Given the description of an element on the screen output the (x, y) to click on. 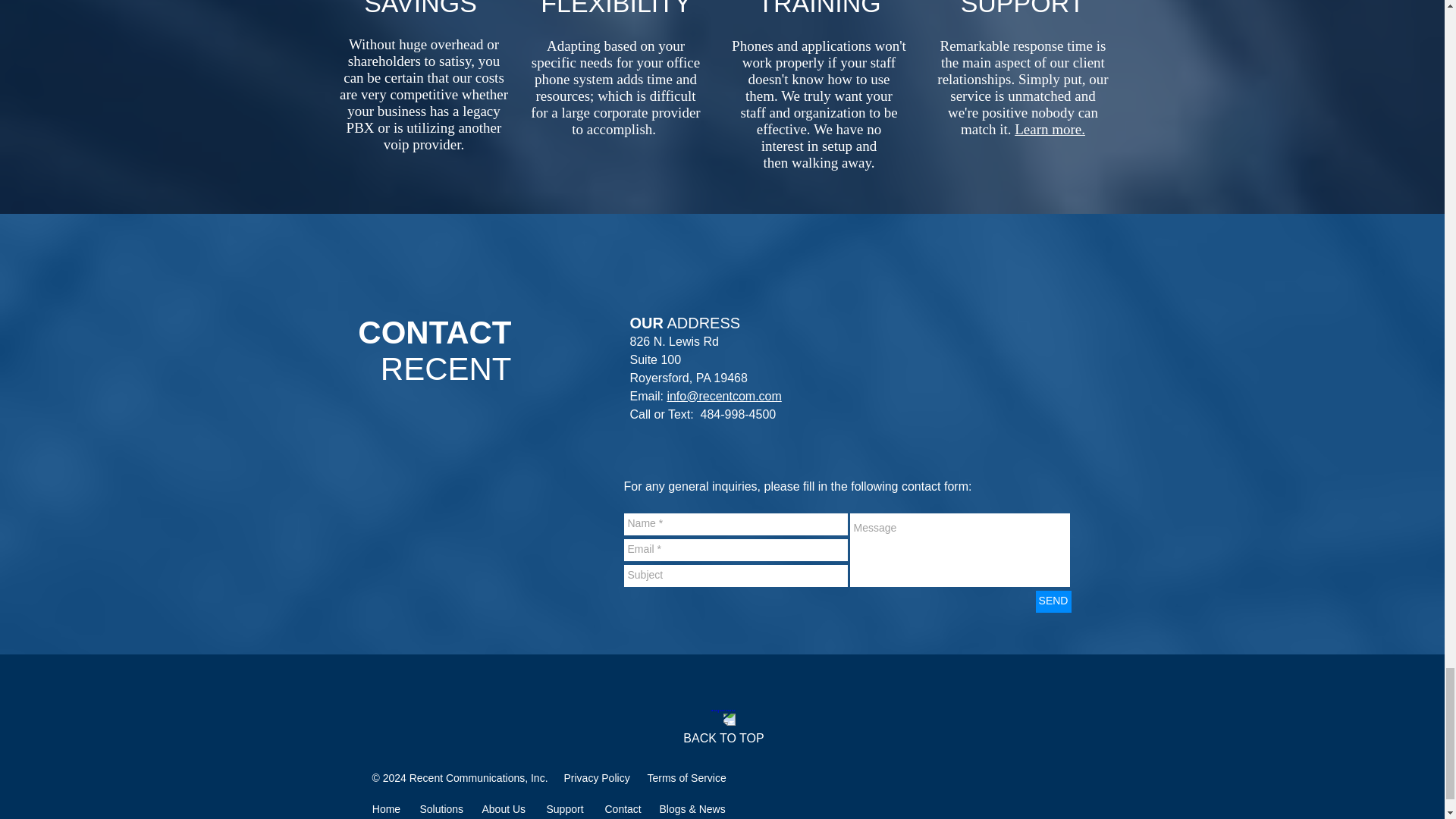
Privacy Policy (597, 777)
Learn more. (1049, 129)
BACK TO TOP (722, 738)
Terms of Service (686, 777)
SEND (1053, 601)
